Given the description of an element on the screen output the (x, y) to click on. 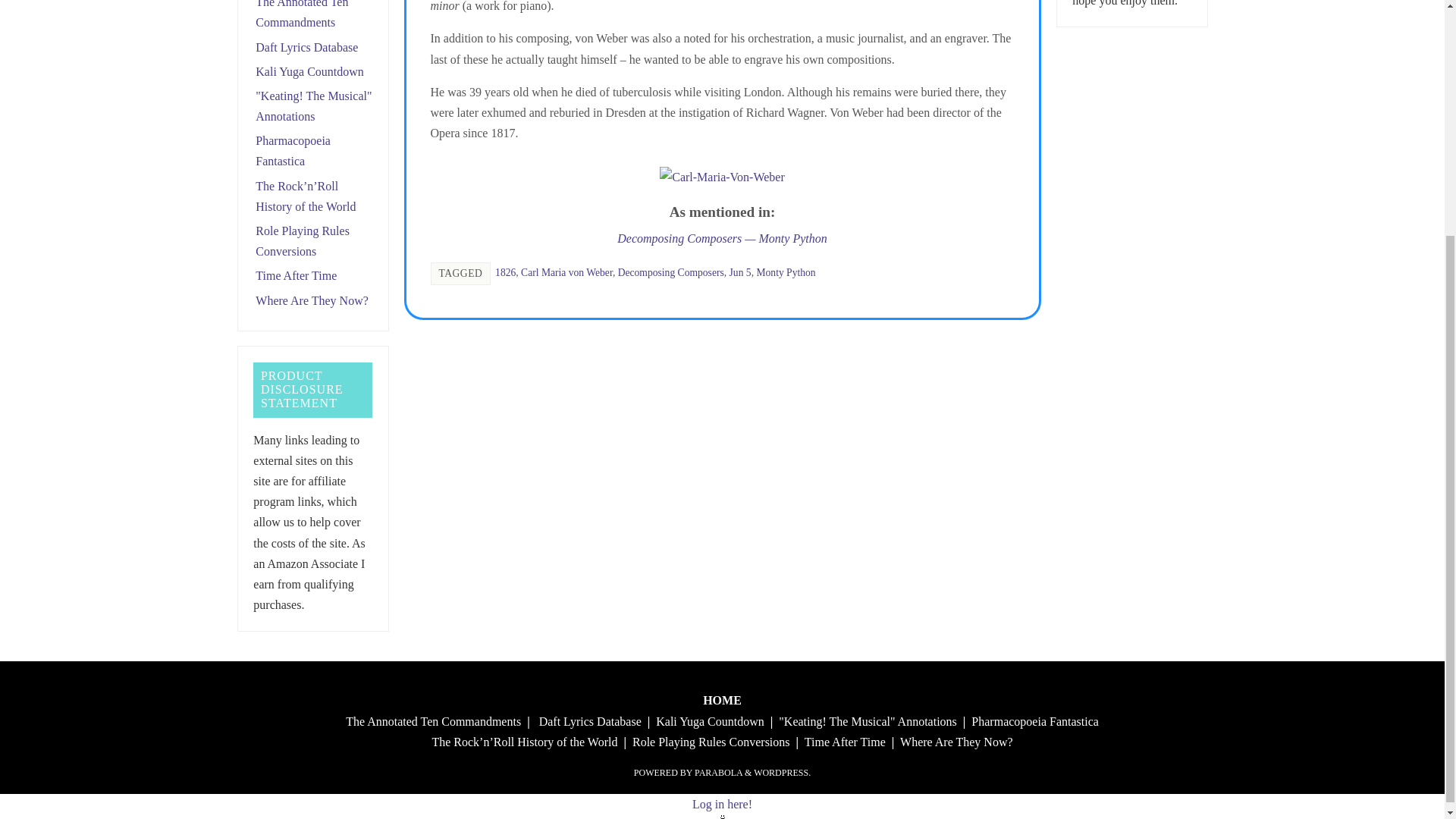
Daft Lyrics Database (590, 721)
Semantic Personal Publishing Platform (782, 772)
"Keating! The Musical" Annotations (867, 721)
Time After Time (296, 275)
Where Are They Now? (312, 300)
HOME (722, 699)
Role Playing Rules Conversions (710, 741)
Log in here! (722, 803)
Carl Maria von Weber (566, 272)
Pharmacopoeia Fantastica (293, 150)
Kali Yuga Countdown (710, 721)
Decomposing Composers (670, 272)
The Annotated Ten Commandments (433, 721)
Jun 5 (740, 272)
